Given the description of an element on the screen output the (x, y) to click on. 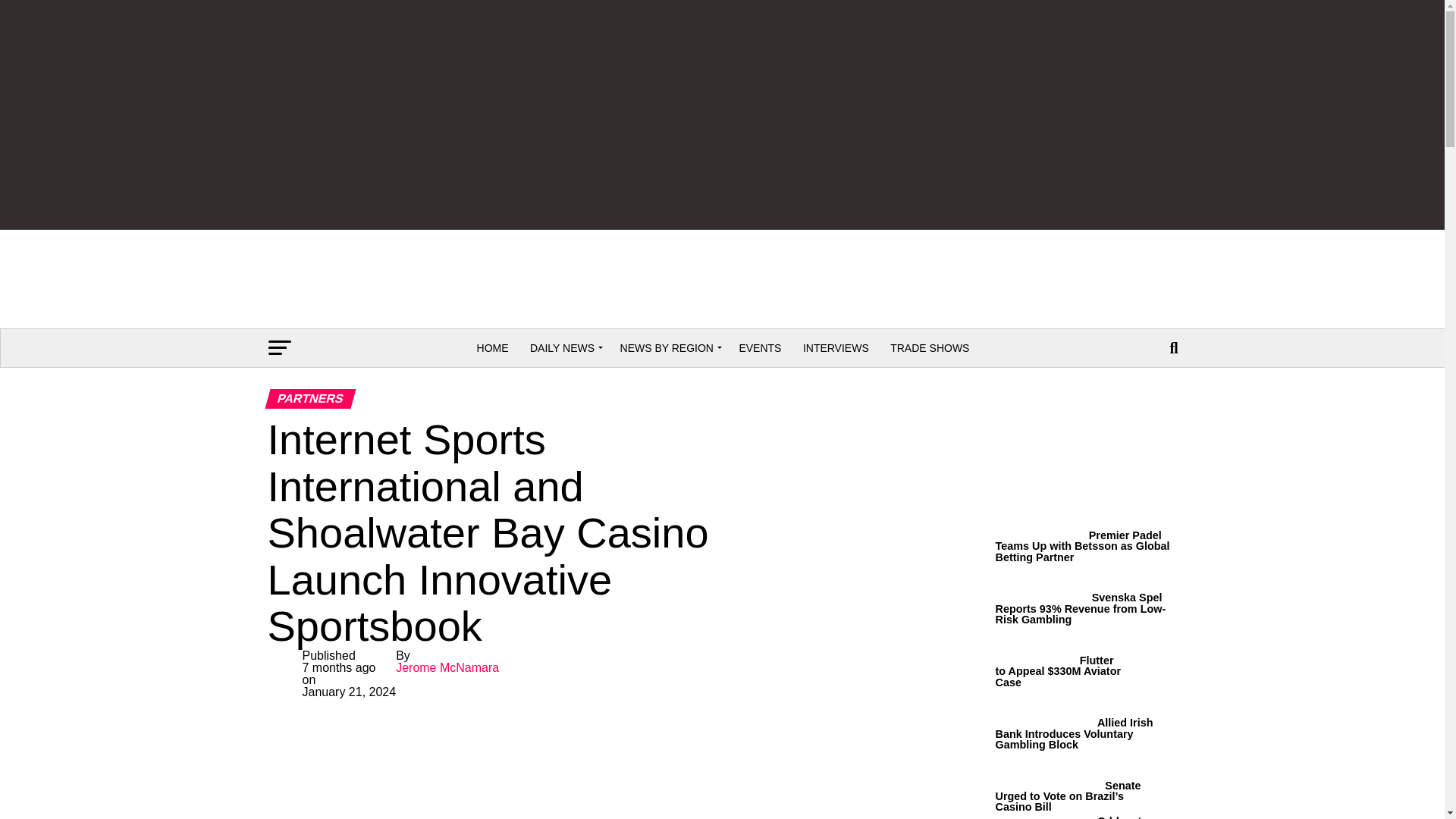
HOME (492, 347)
DAILY NEWS (564, 347)
Posts by Jerome McNamara (447, 667)
